Given the description of an element on the screen output the (x, y) to click on. 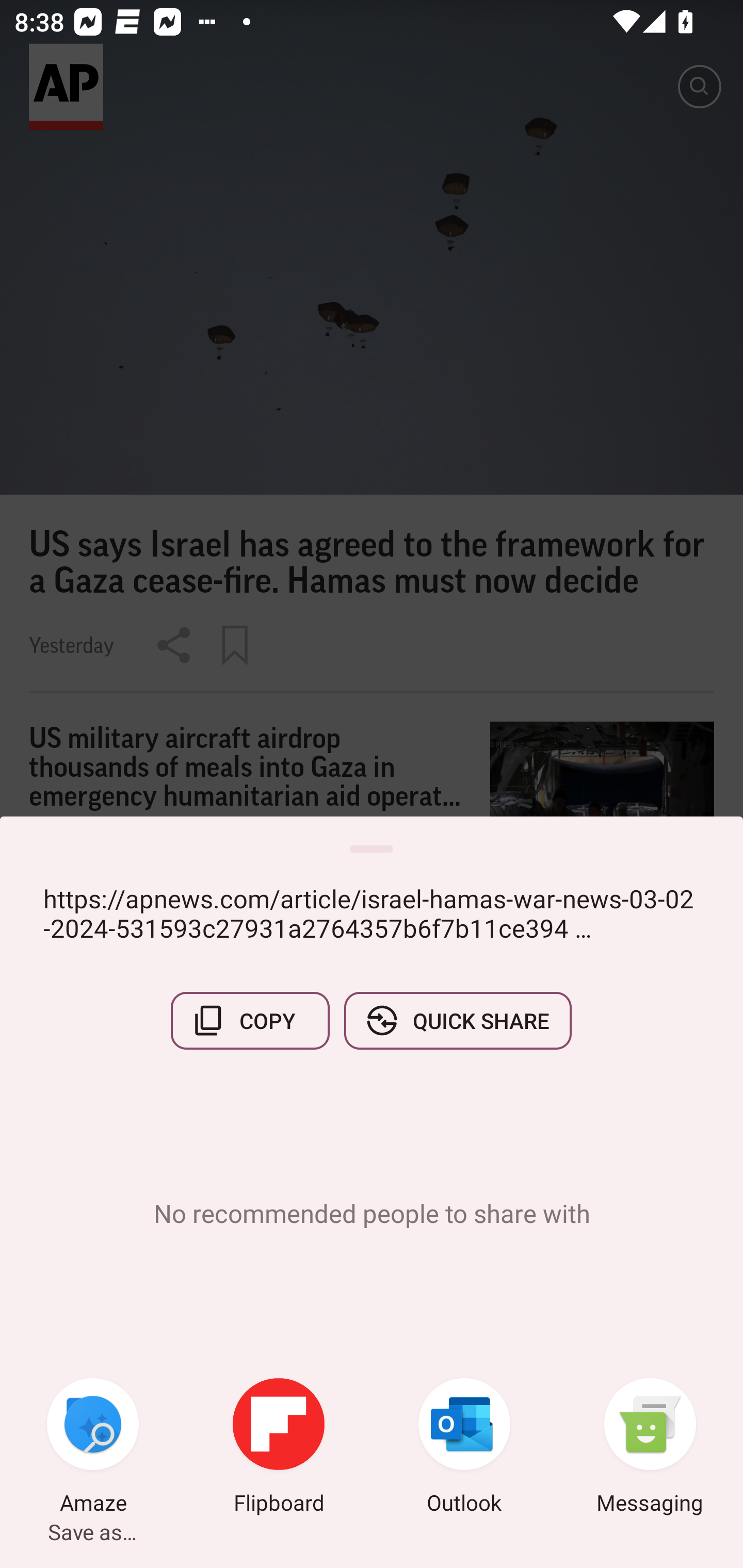
COPY (249, 1020)
QUICK SHARE (457, 1020)
Amaze Save as… (92, 1448)
Flipboard (278, 1448)
Outlook (464, 1448)
Messaging (650, 1448)
